Given the description of an element on the screen output the (x, y) to click on. 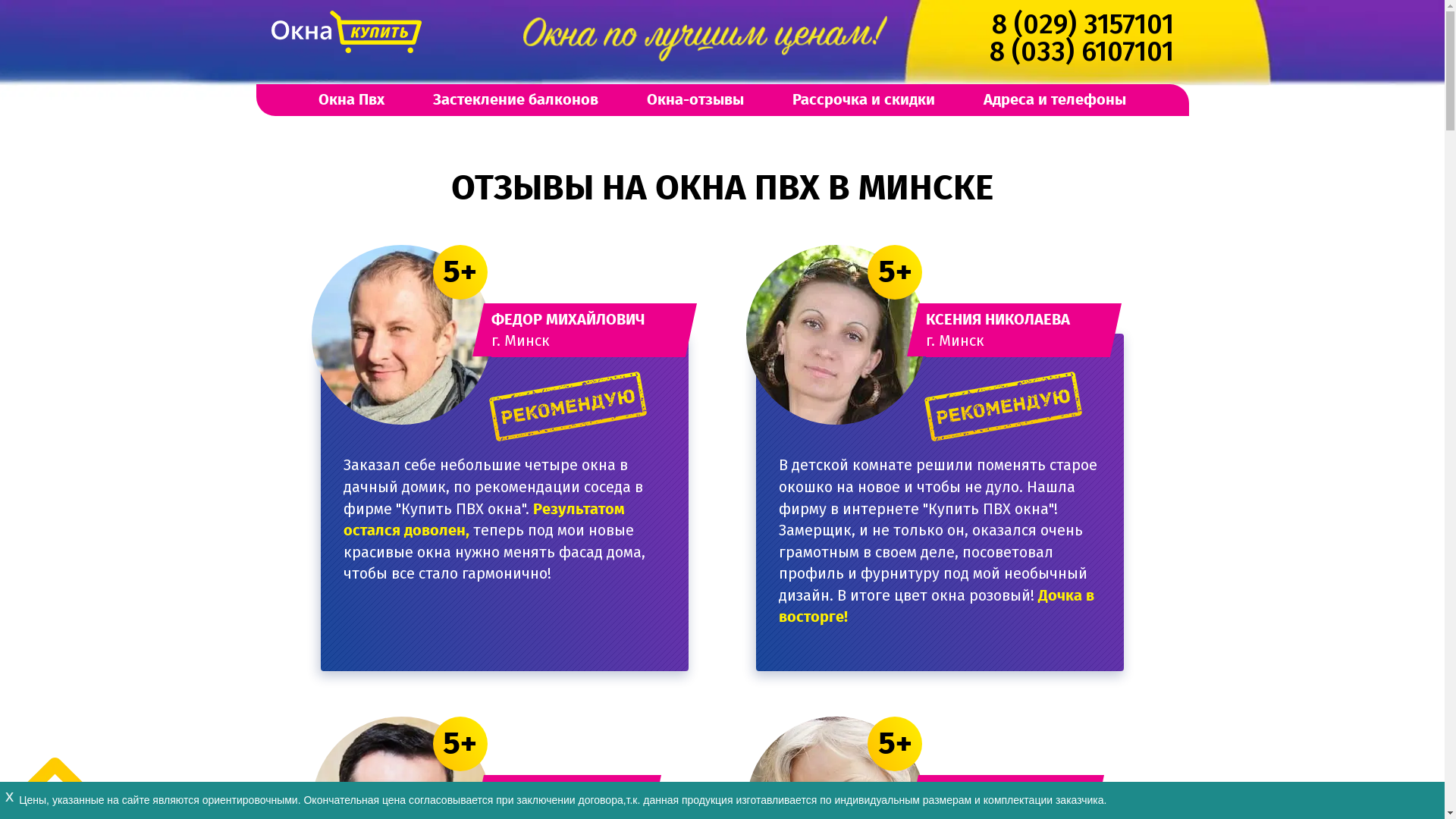
8 (029) 3157101 Element type: text (1082, 23)
8 (033) 6107101 Element type: text (1080, 51)
